Given the description of an element on the screen output the (x, y) to click on. 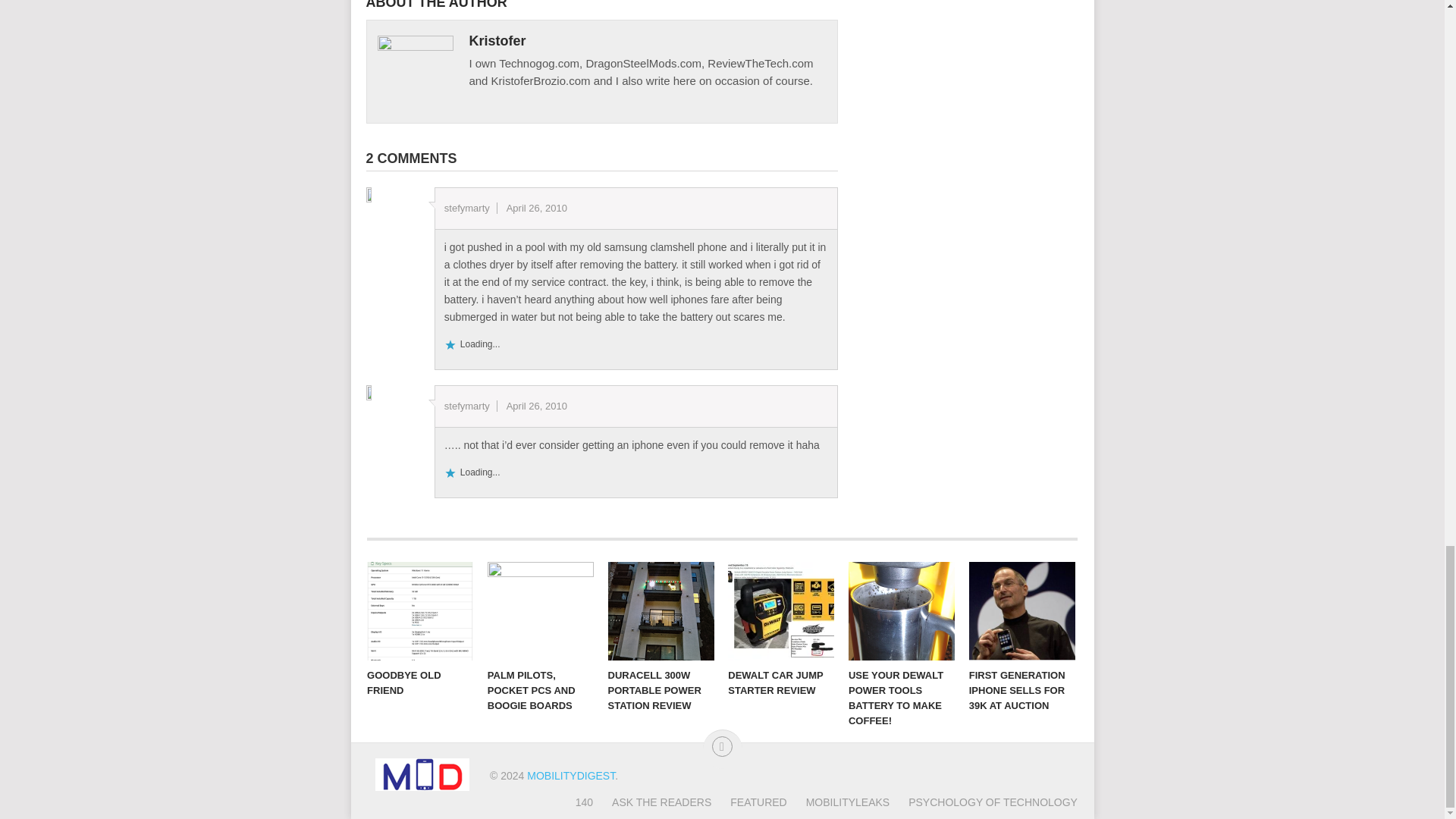
DEWALT CAR JUMP STARTER REVIEW (781, 610)
PALM PILOTS, POCKET PCS AND BOOGIE BOARDS (540, 610)
DURACELL 300W PORTABLE POWER STATION REVIEW (661, 610)
GOODBYE OLD FRIEND (419, 610)
